Given the description of an element on the screen output the (x, y) to click on. 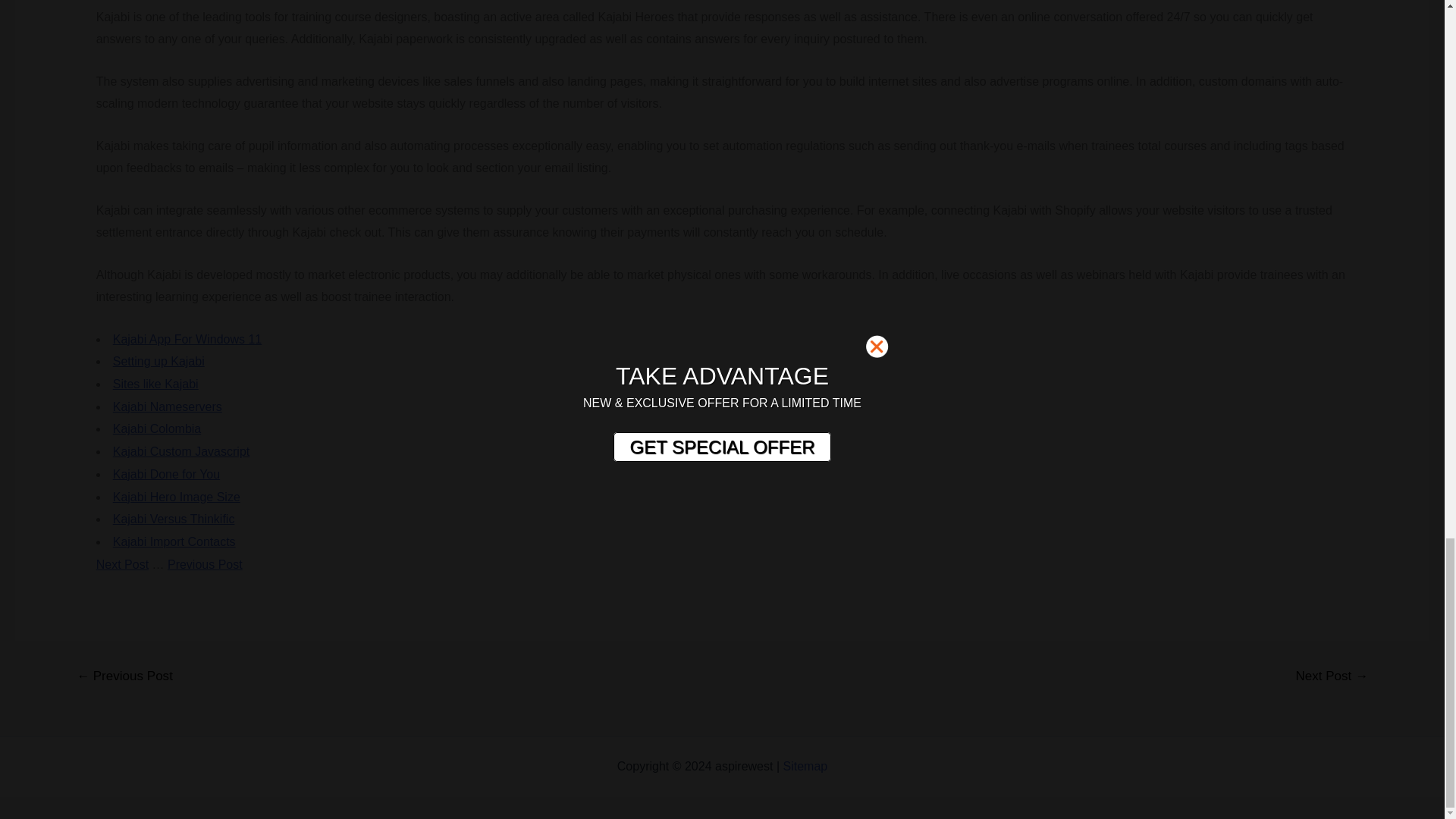
Kajabi Colombia (157, 428)
Kajabi Nameservers (167, 406)
Kajabi Versus Thinkific (173, 518)
Sites like Kajabi (155, 383)
Setting up Kajabi (159, 360)
Kajabi Custom Javascript (181, 451)
Sites like Kajabi (155, 383)
Kajabi App For Windows 11 (187, 338)
Kajabi Import Contacts (174, 541)
Kajabi Done for You (166, 473)
